Given the description of an element on the screen output the (x, y) to click on. 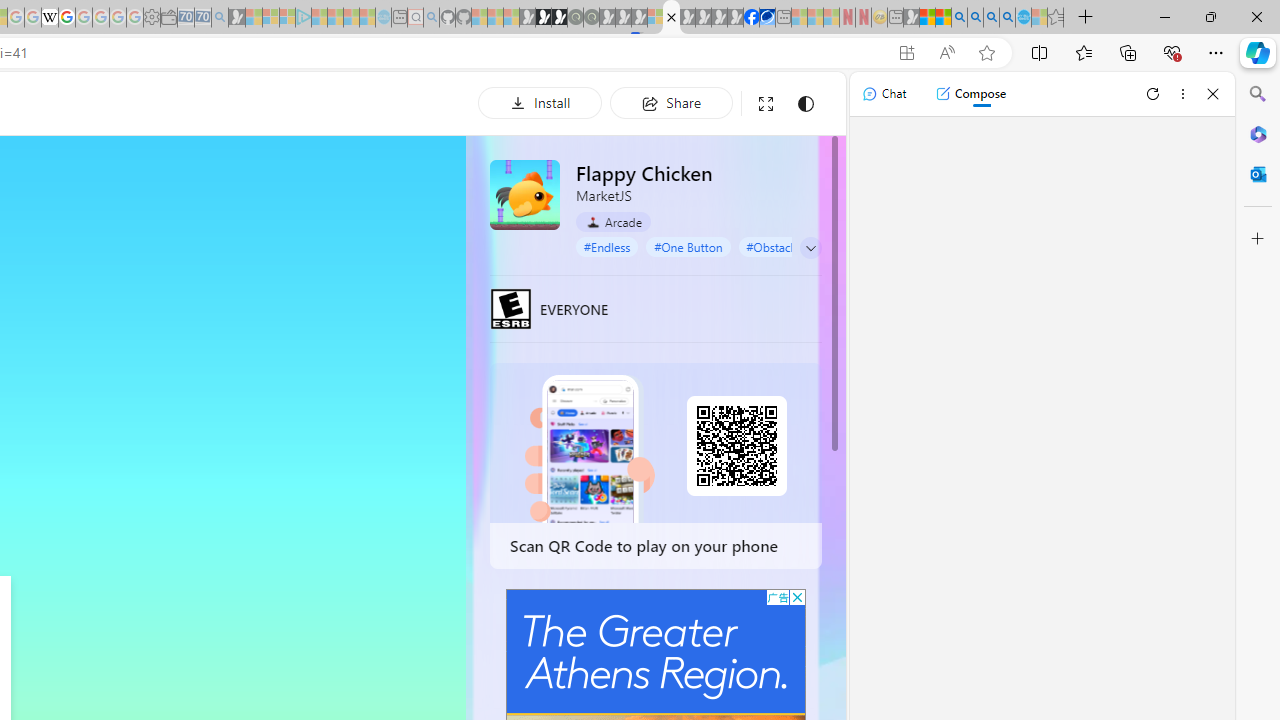
2009 Bing officially replaced Live Search on June 3 - Search (975, 17)
Flappy Chicken (525, 194)
